Given the description of an element on the screen output the (x, y) to click on. 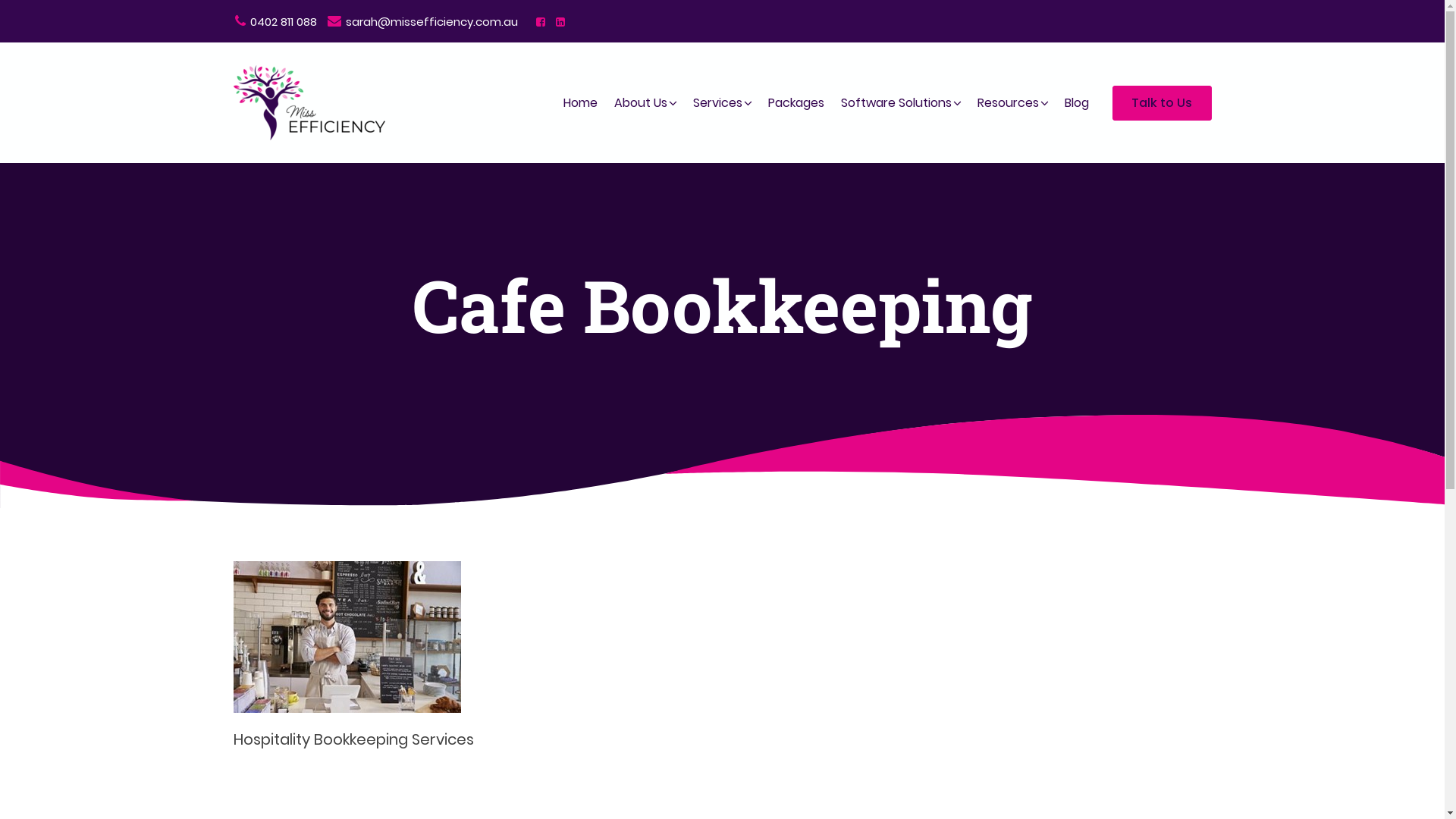
Home Element type: text (580, 102)
Talk to Us Element type: text (1161, 101)
sarah@missefficiency.com.au Element type: text (421, 21)
Services Element type: text (716, 102)
Blog Element type: text (1076, 102)
Software Solutions Element type: text (896, 102)
Packages Element type: text (796, 102)
0402 811 088 Element type: text (275, 21)
Resources Element type: text (1007, 102)
About Us Element type: text (639, 102)
